Given the description of an element on the screen output the (x, y) to click on. 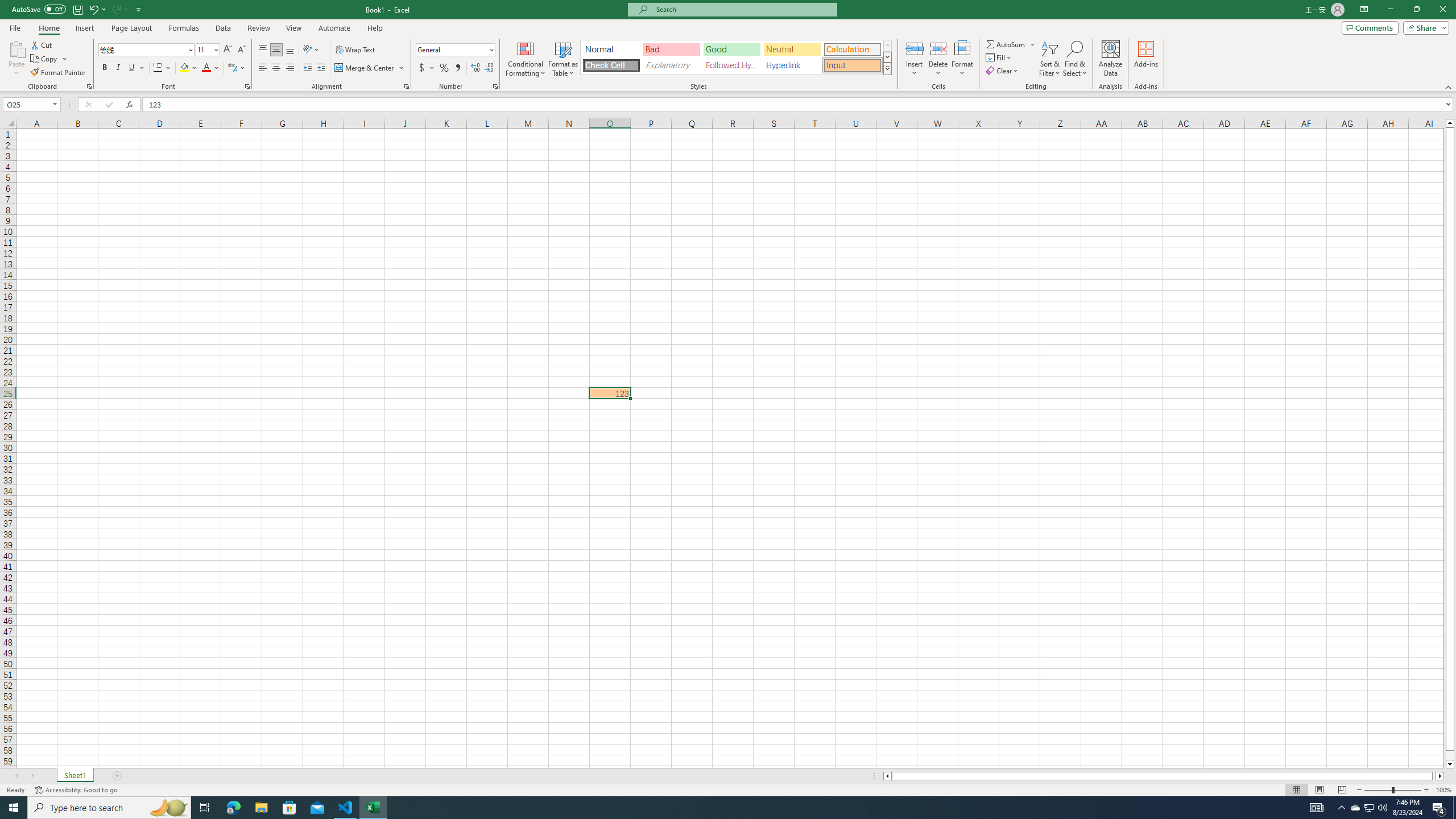
Percent Style (443, 67)
Conditional Formatting (525, 58)
Format Painter (58, 72)
Font Size (207, 49)
Accounting Number Format (422, 67)
Italic (118, 67)
Fill (999, 56)
Font (142, 49)
